Given the description of an element on the screen output the (x, y) to click on. 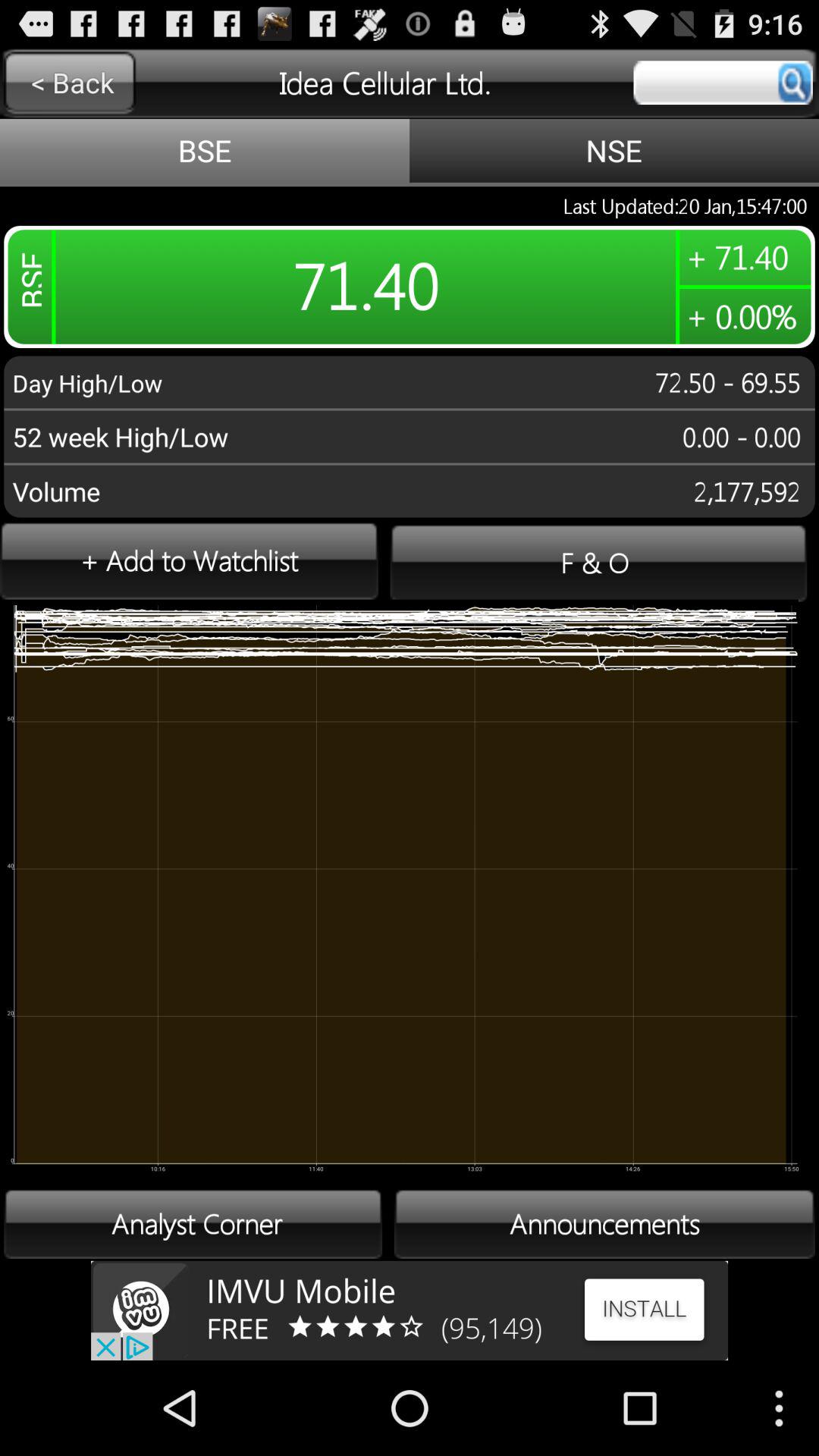
select advertisement (409, 1310)
